Given the description of an element on the screen output the (x, y) to click on. 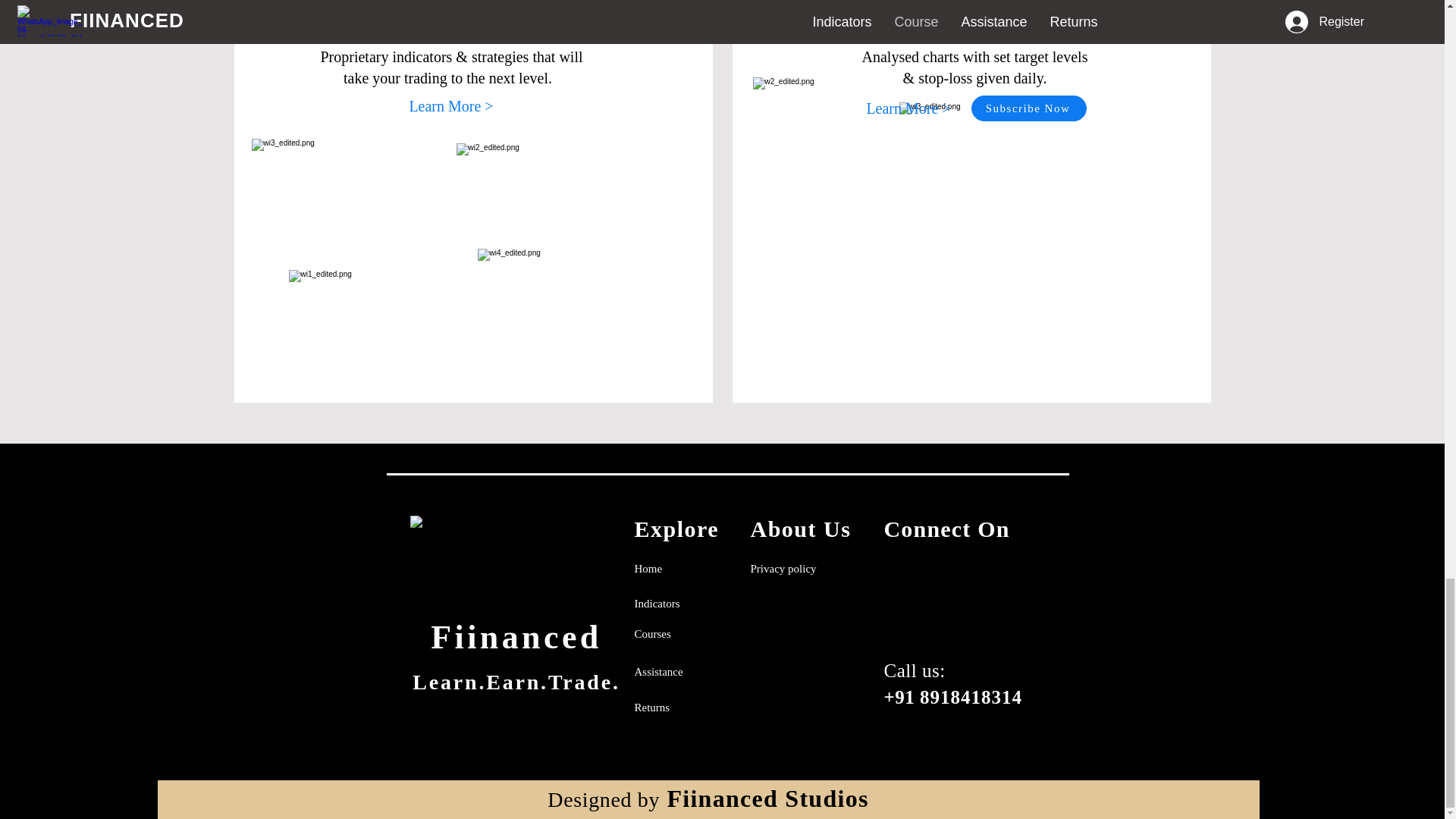
Assistance (657, 671)
Courses (651, 633)
Indicators (656, 603)
Subscribe Now (1028, 108)
Privacy policy (783, 567)
Connect On (946, 528)
Home (647, 568)
Returns (651, 707)
